Given the description of an element on the screen output the (x, y) to click on. 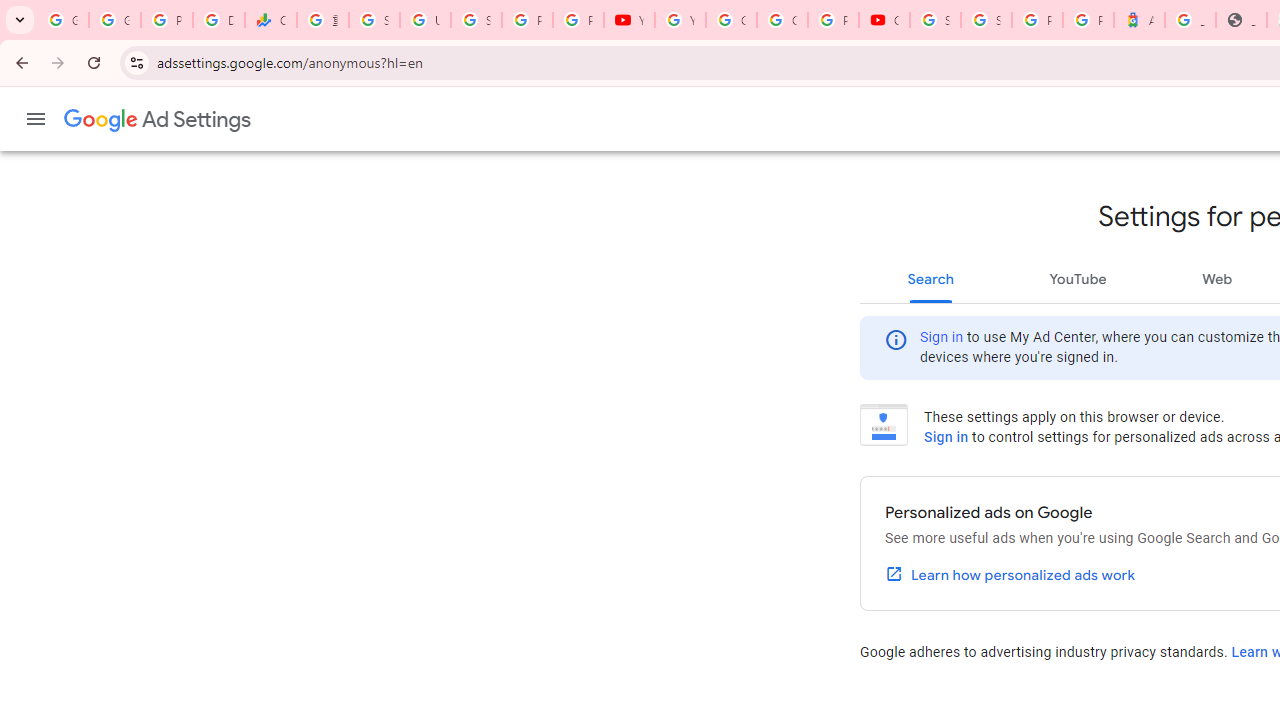
Sign in - Google Accounts (935, 20)
Sign in - Google Accounts (475, 20)
YouTube (680, 20)
YouTube (1077, 278)
Atour Hotel - Google hotels (1138, 20)
Privacy Checkup (578, 20)
Google Account Help (731, 20)
